Given the description of an element on the screen output the (x, y) to click on. 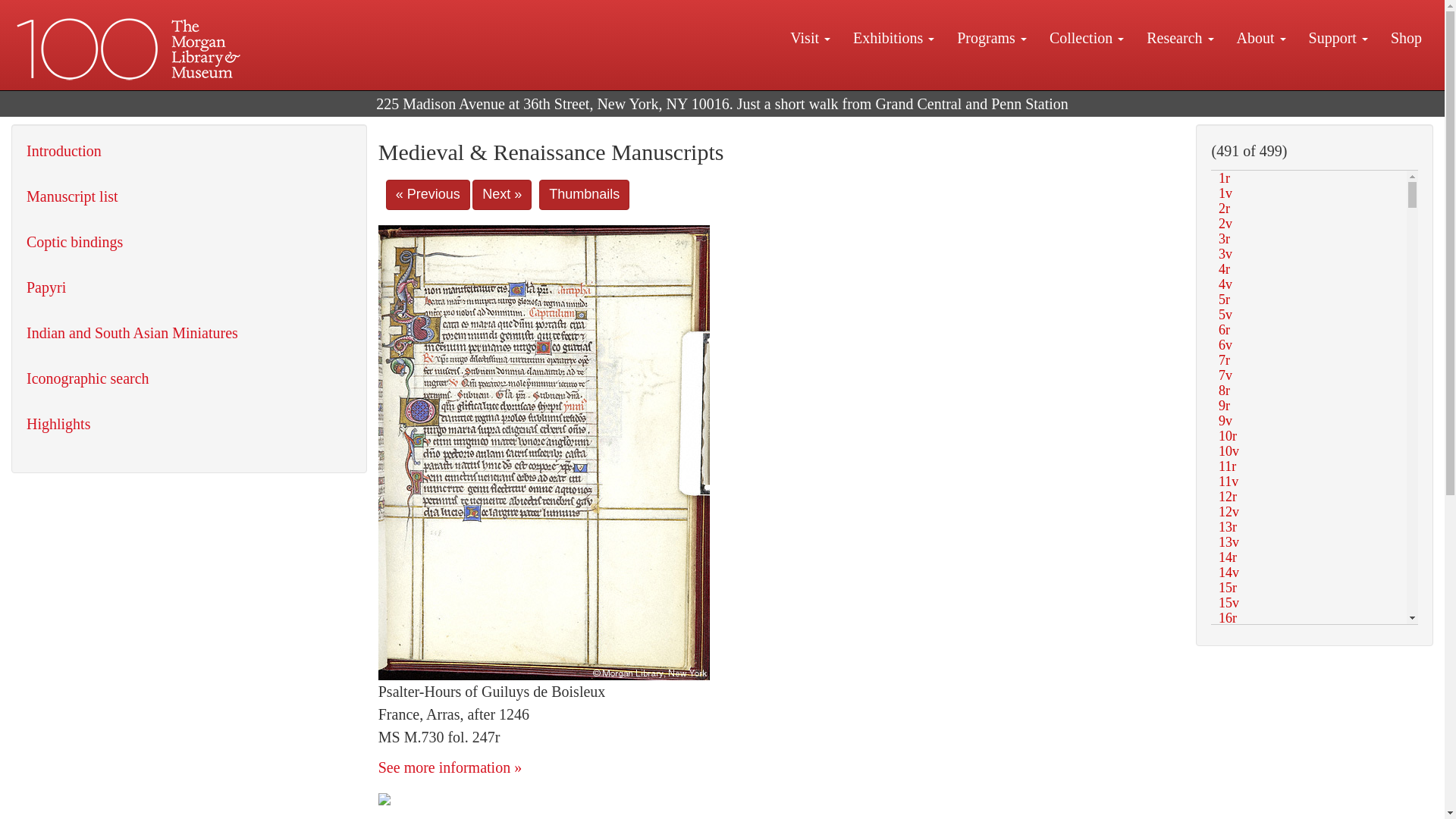
Visit (809, 37)
Programs (991, 37)
Collection (1086, 37)
Exhibitions (892, 37)
